Given the description of an element on the screen output the (x, y) to click on. 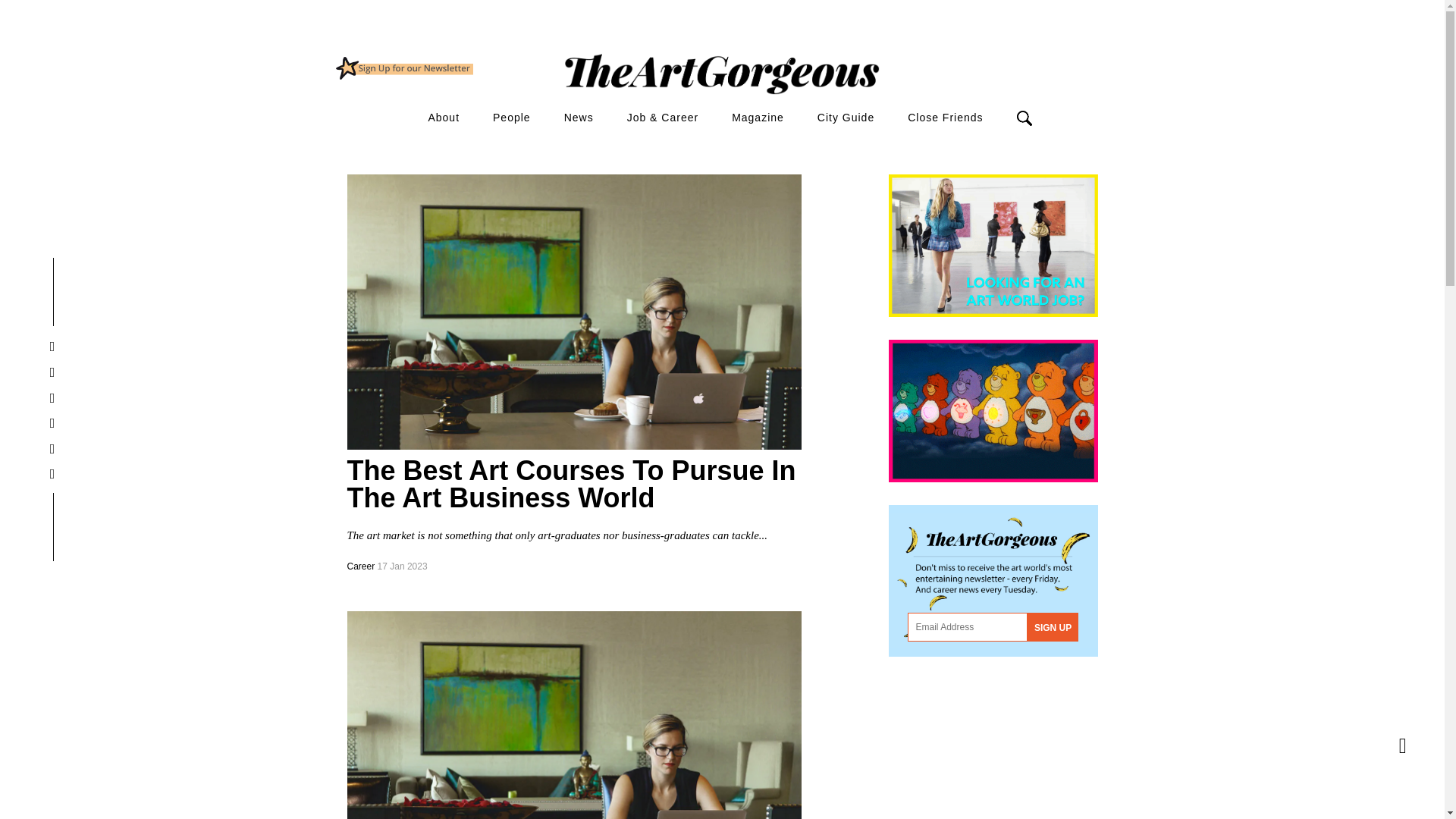
News (579, 117)
SIGN UP (1052, 626)
People (512, 117)
About (444, 117)
TheArtGorgeous (403, 67)
search (911, 144)
Magazine (758, 117)
City Guide (845, 117)
SIGN UP (1052, 626)
Close Friends (944, 117)
